Given the description of an element on the screen output the (x, y) to click on. 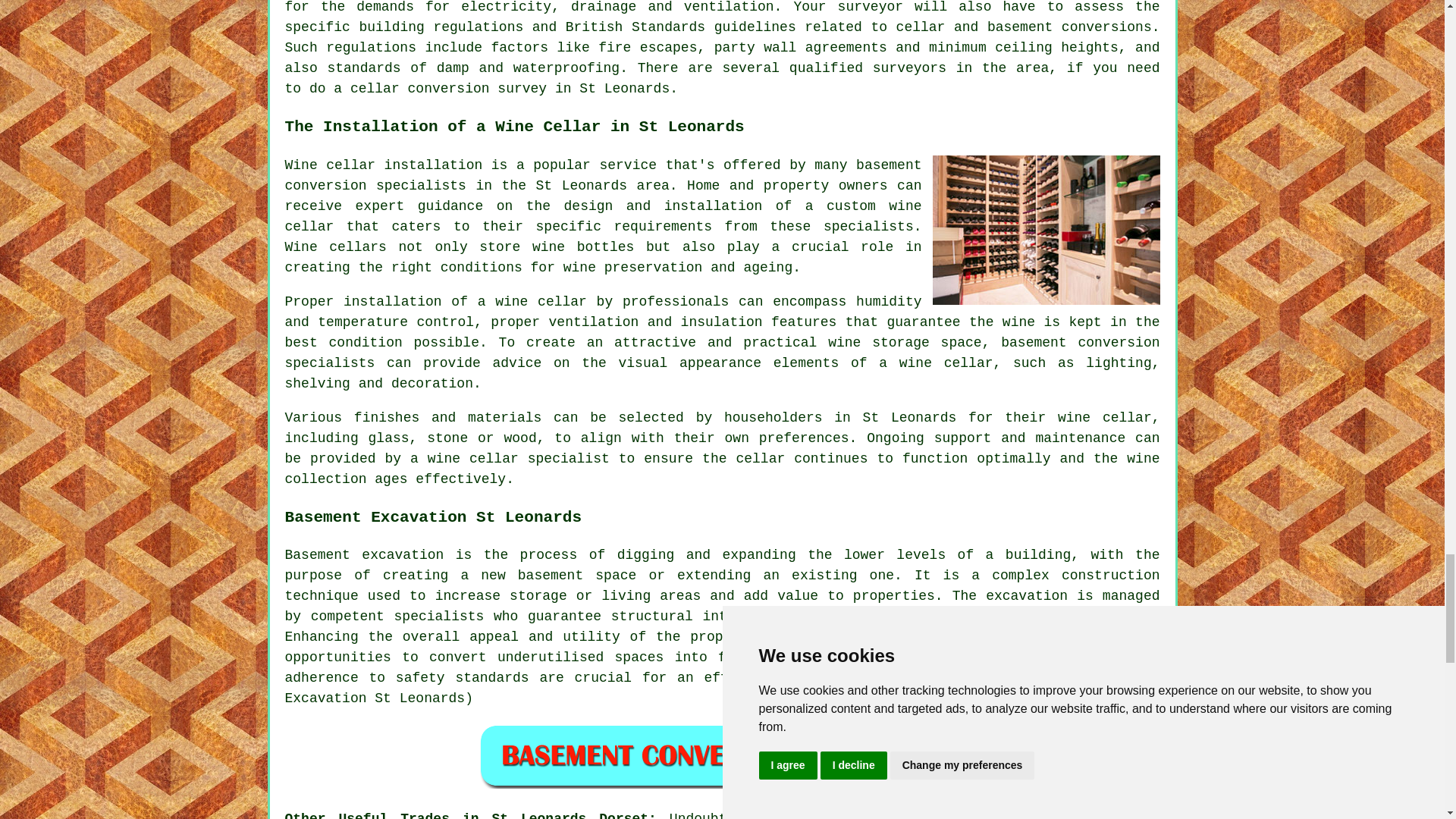
excavation (1026, 595)
basement conversion specialists (603, 175)
Wine Cellar Installation St Leonards (1046, 229)
